Given the description of an element on the screen output the (x, y) to click on. 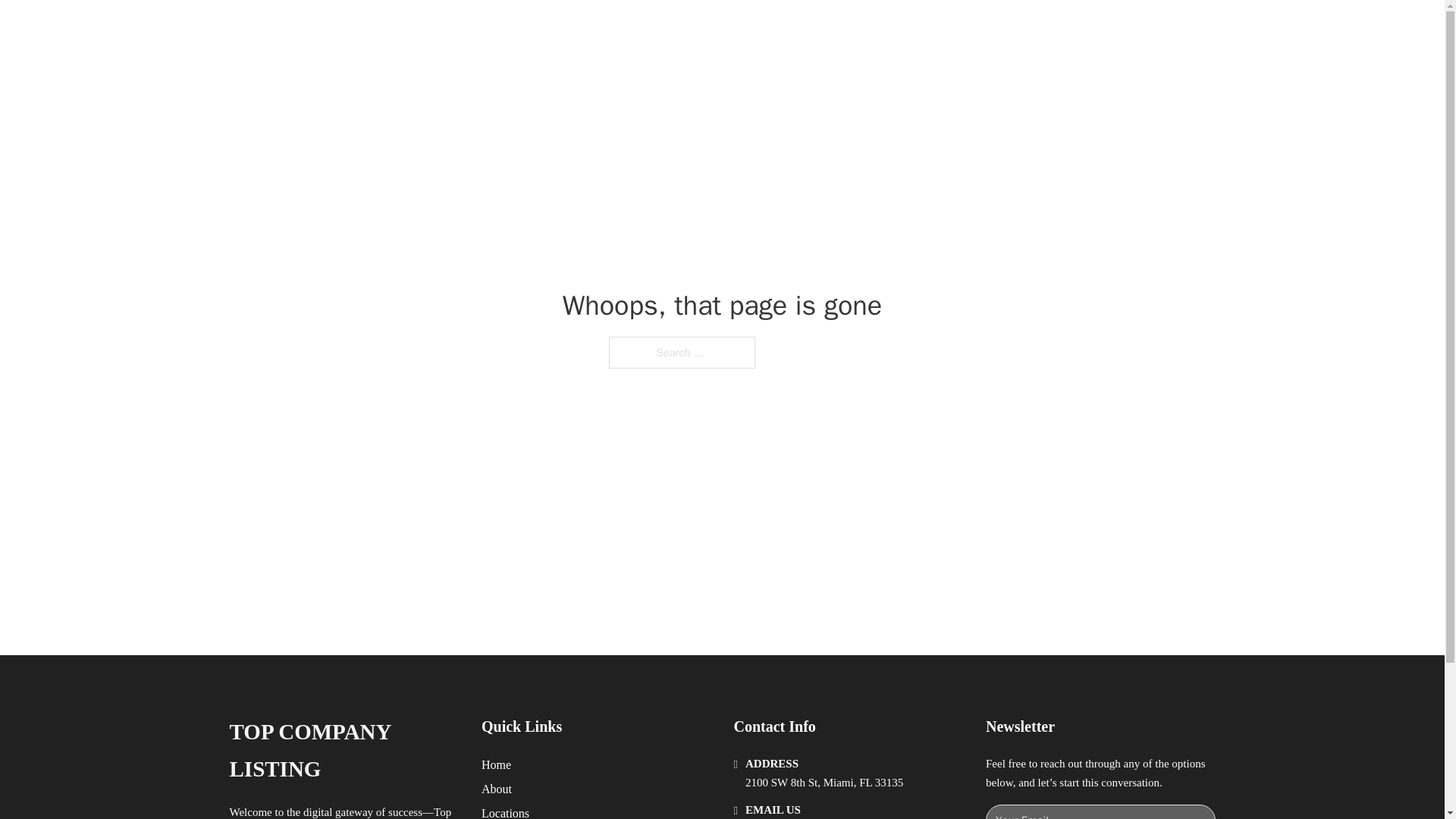
About (496, 788)
TOP COMPANY LISTING (343, 750)
TOP COMPANY LISTING (424, 28)
Locations (505, 811)
HOME (919, 29)
Home (496, 764)
LOCATIONS (990, 29)
